Given the description of an element on the screen output the (x, y) to click on. 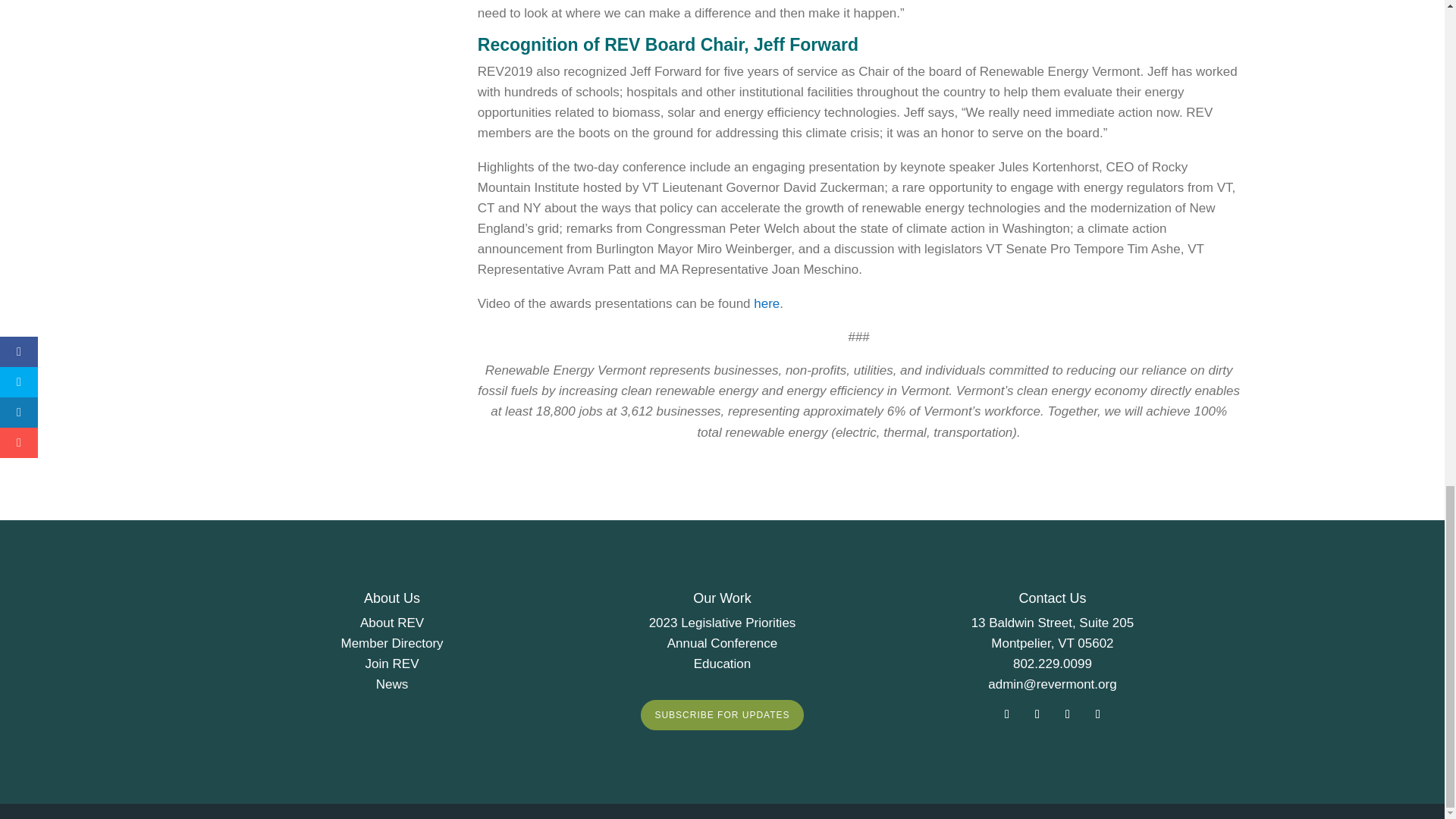
Follow on LinkedIn (1097, 713)
Follow on Facebook (1006, 713)
Follow on Instagram (1037, 713)
Follow on X (1067, 713)
